Given the description of an element on the screen output the (x, y) to click on. 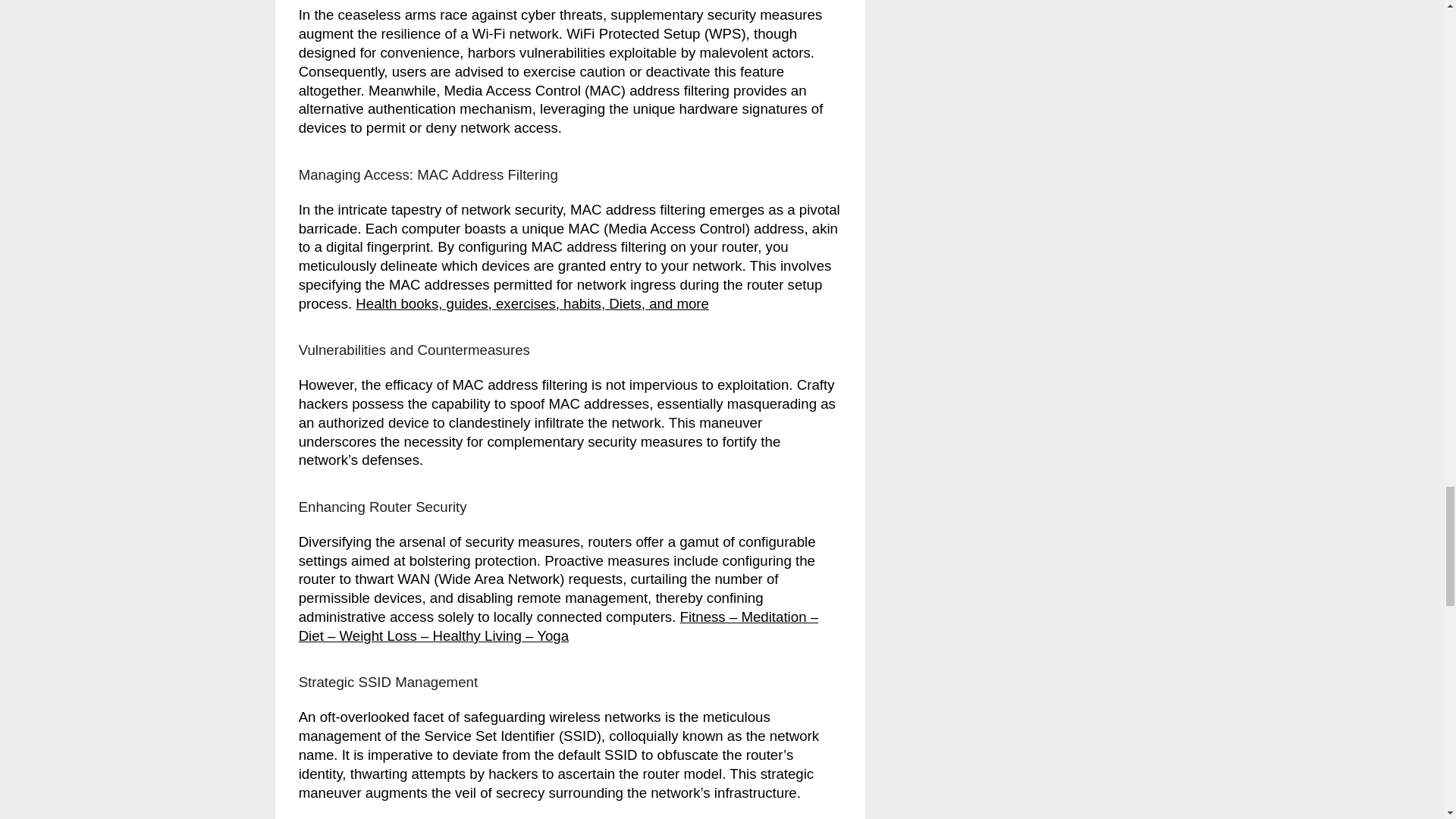
Health books, guides, exercises, habits, Diets, and more (532, 303)
